Given the description of an element on the screen output the (x, y) to click on. 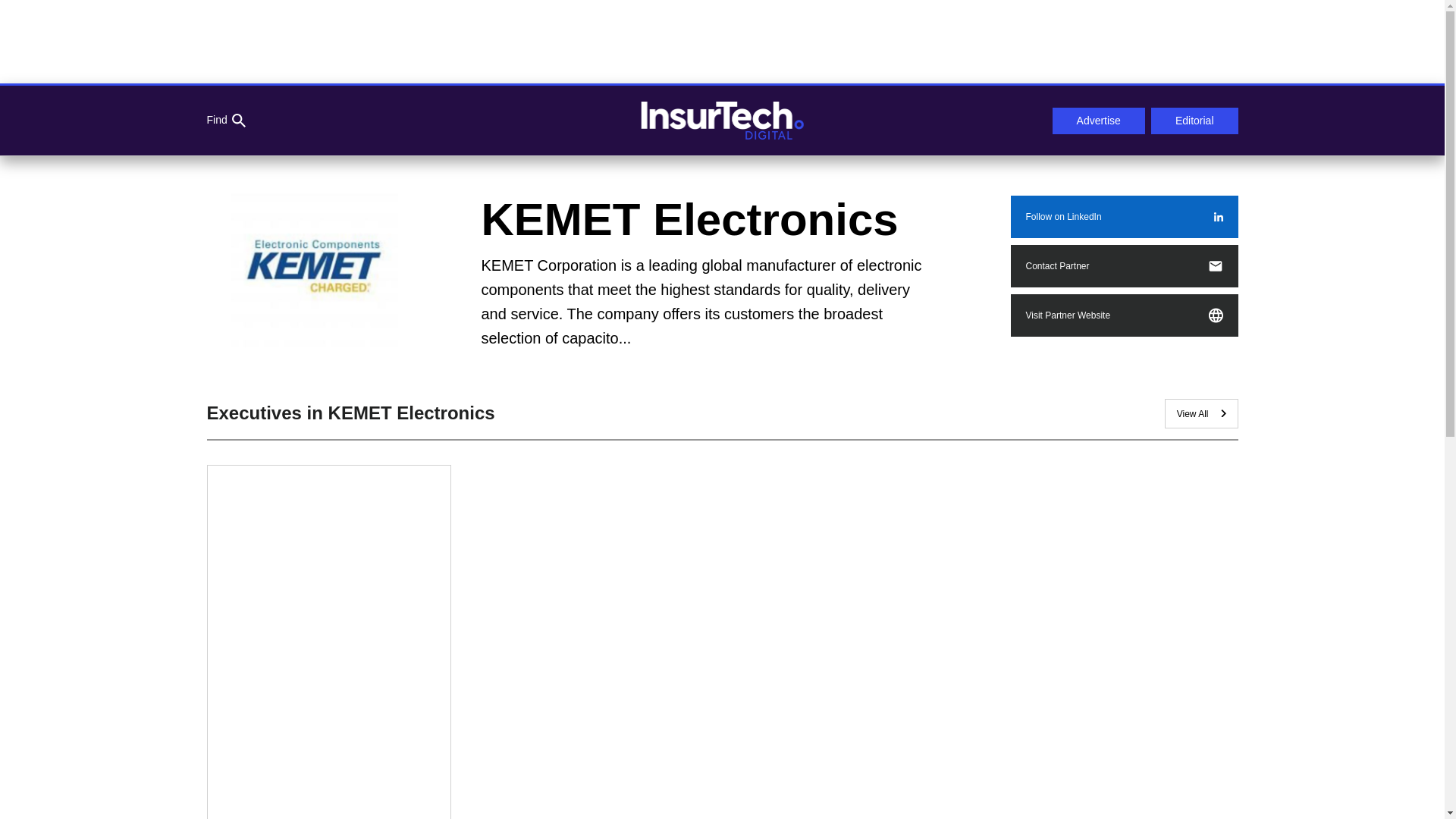
Visit Partner Website (1123, 315)
Editorial (1195, 121)
View All (1201, 413)
Advertise (1098, 121)
Find (225, 120)
Contact Partner (1123, 265)
Follow on LinkedIn (1123, 216)
